Given the description of an element on the screen output the (x, y) to click on. 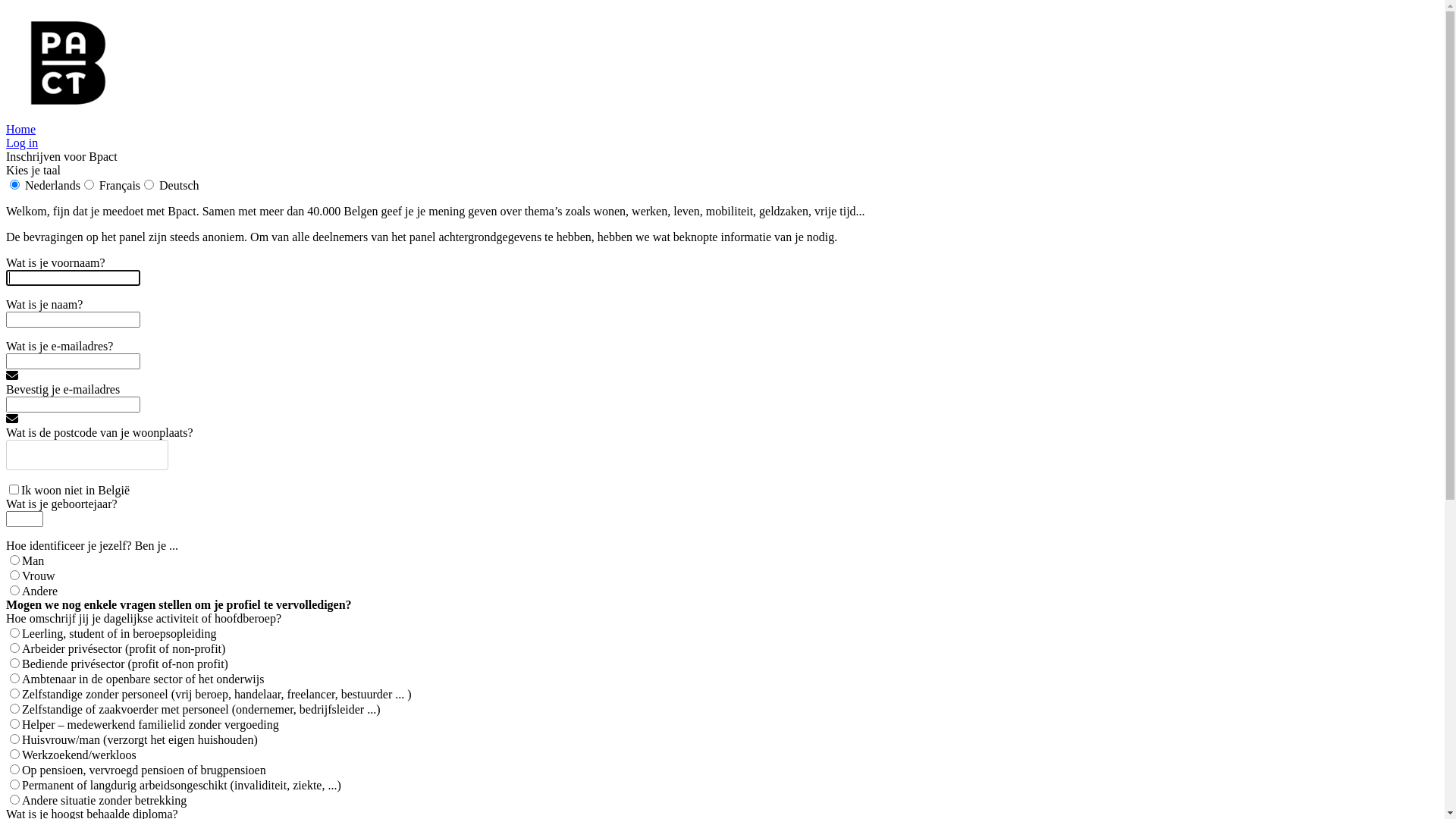
Log in Element type: text (21, 142)
Home Element type: text (20, 128)
